Given the description of an element on the screen output the (x, y) to click on. 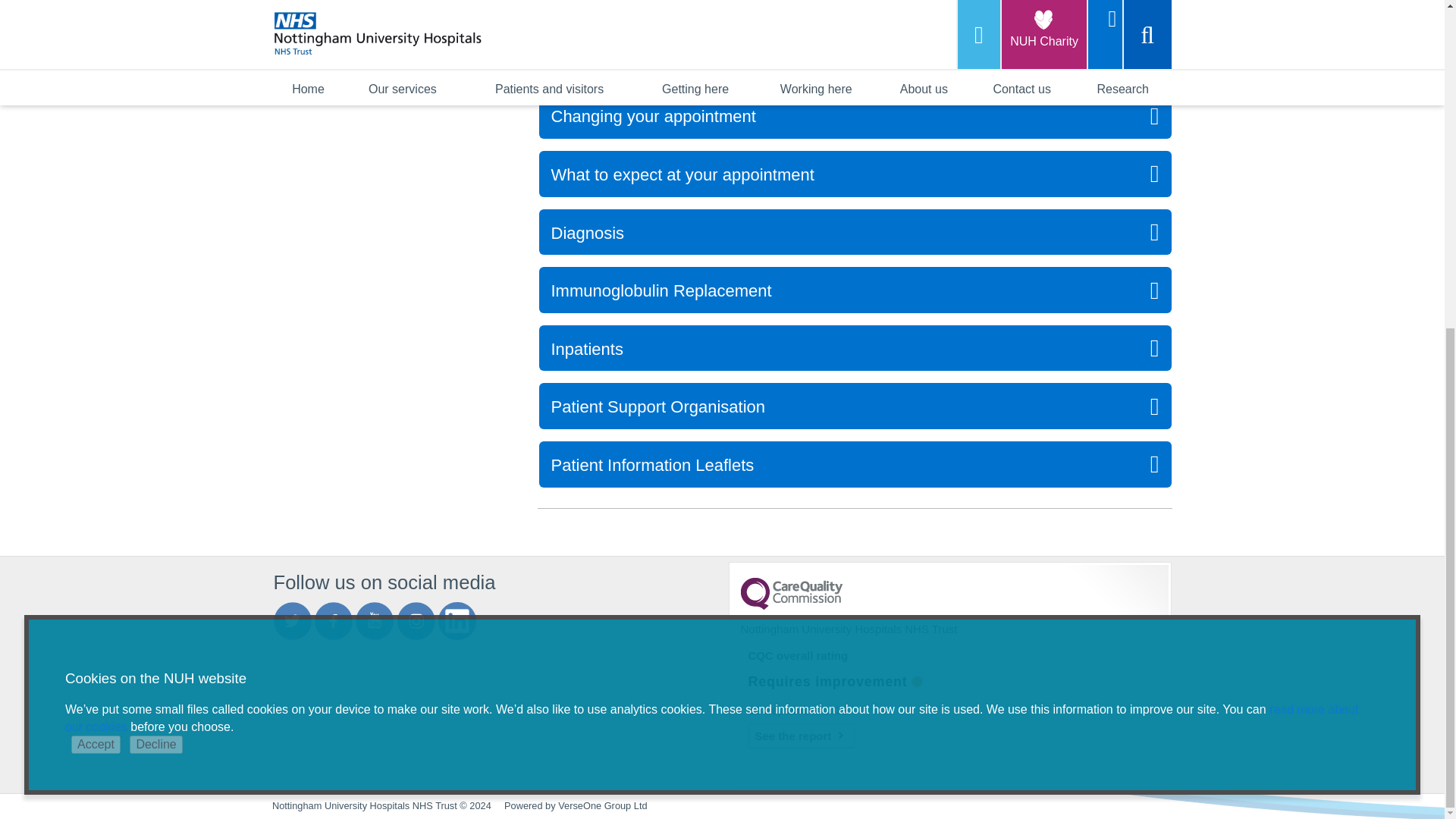
Link to NUH Twitter account (292, 620)
Decline (155, 203)
CQC Logo (790, 605)
Accept (95, 203)
